Given the description of an element on the screen output the (x, y) to click on. 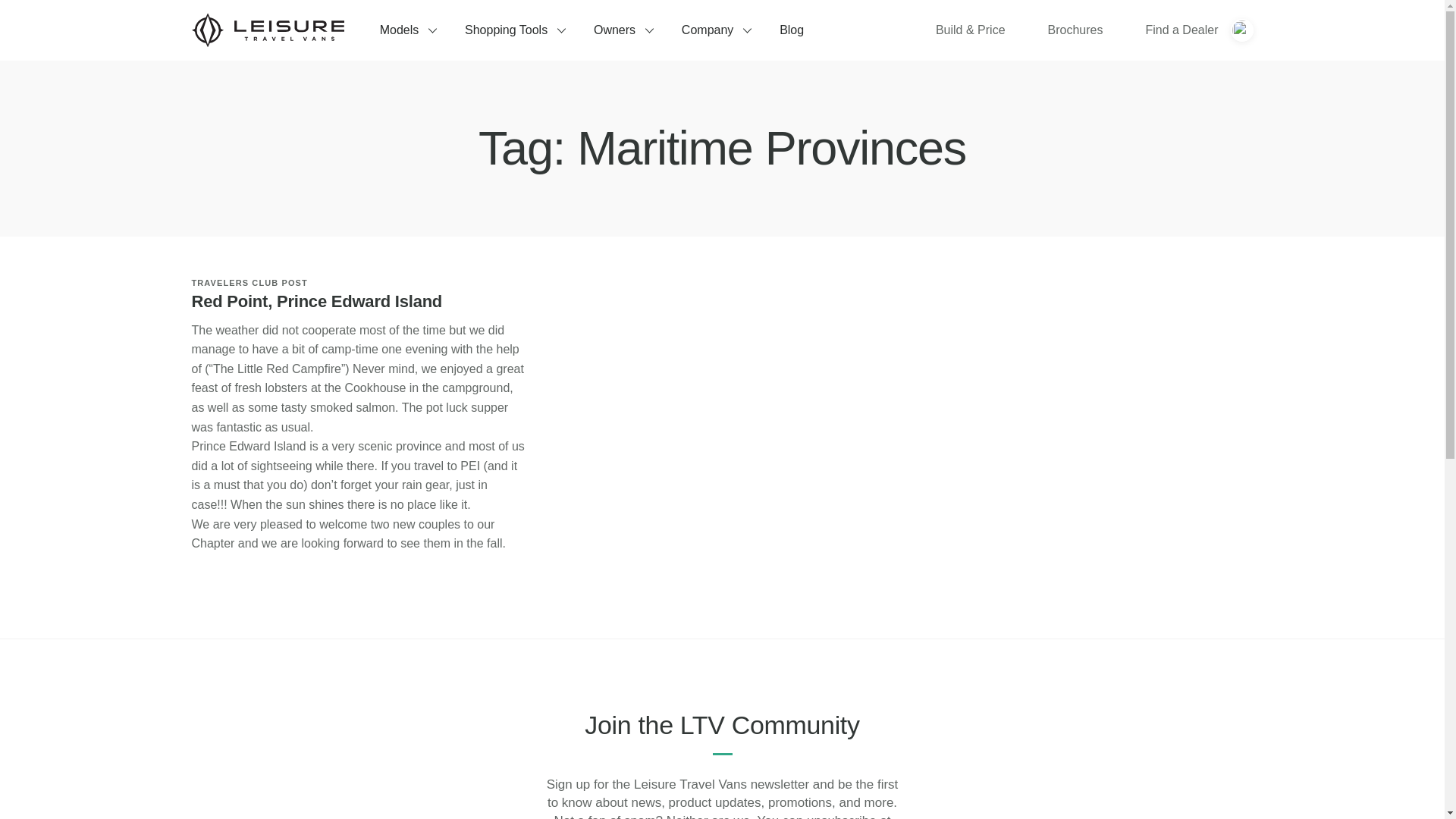
Models (407, 30)
Shopping Tools (514, 30)
View all posts in Travelers Club (234, 282)
